Given the description of an element on the screen output the (x, y) to click on. 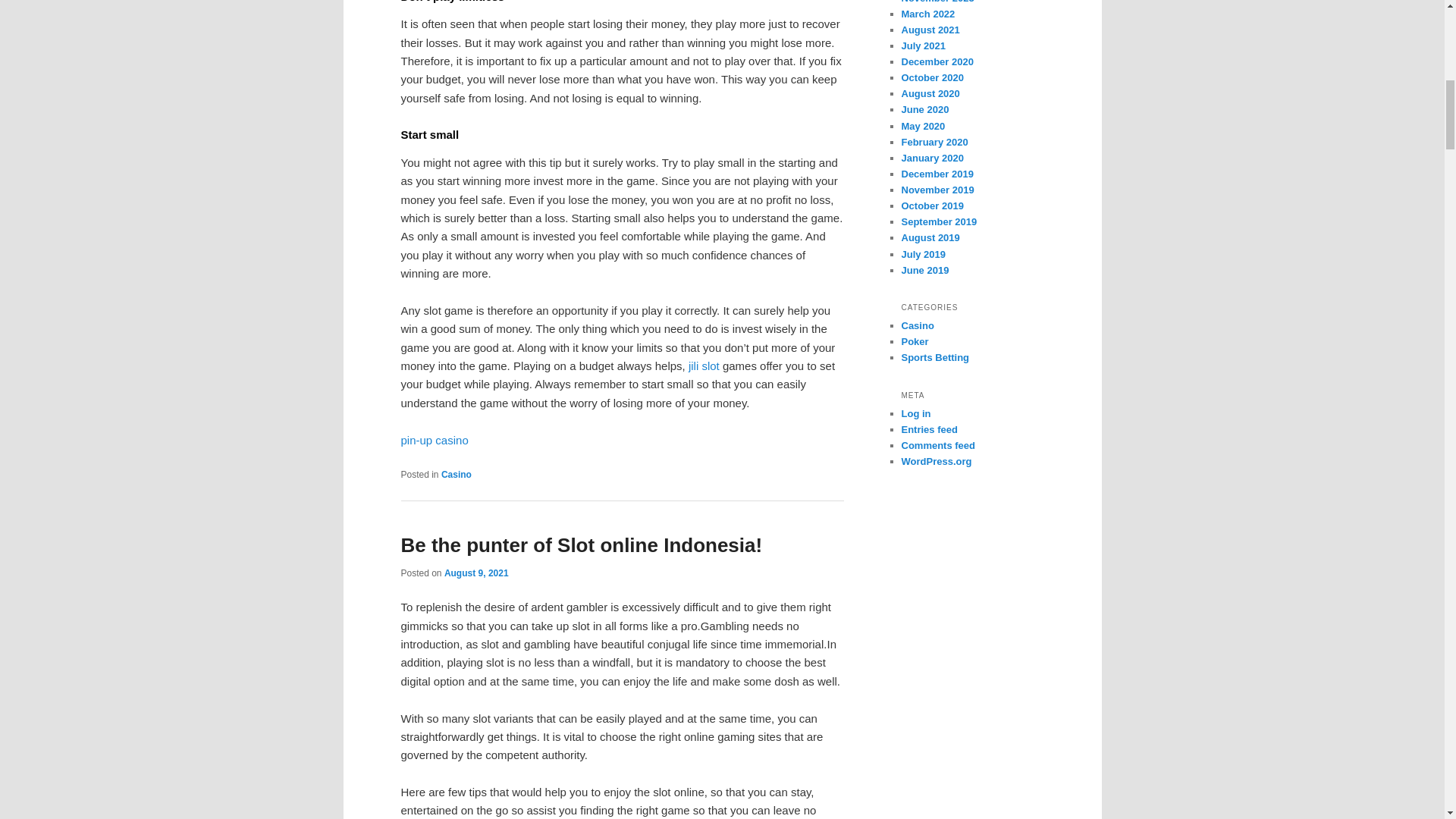
Be the punter of Slot online Indonesia! (580, 544)
August 9, 2021 (476, 573)
pin-up casino (433, 440)
Casino (456, 474)
5:57 am (476, 573)
jili slot (705, 365)
